Given the description of an element on the screen output the (x, y) to click on. 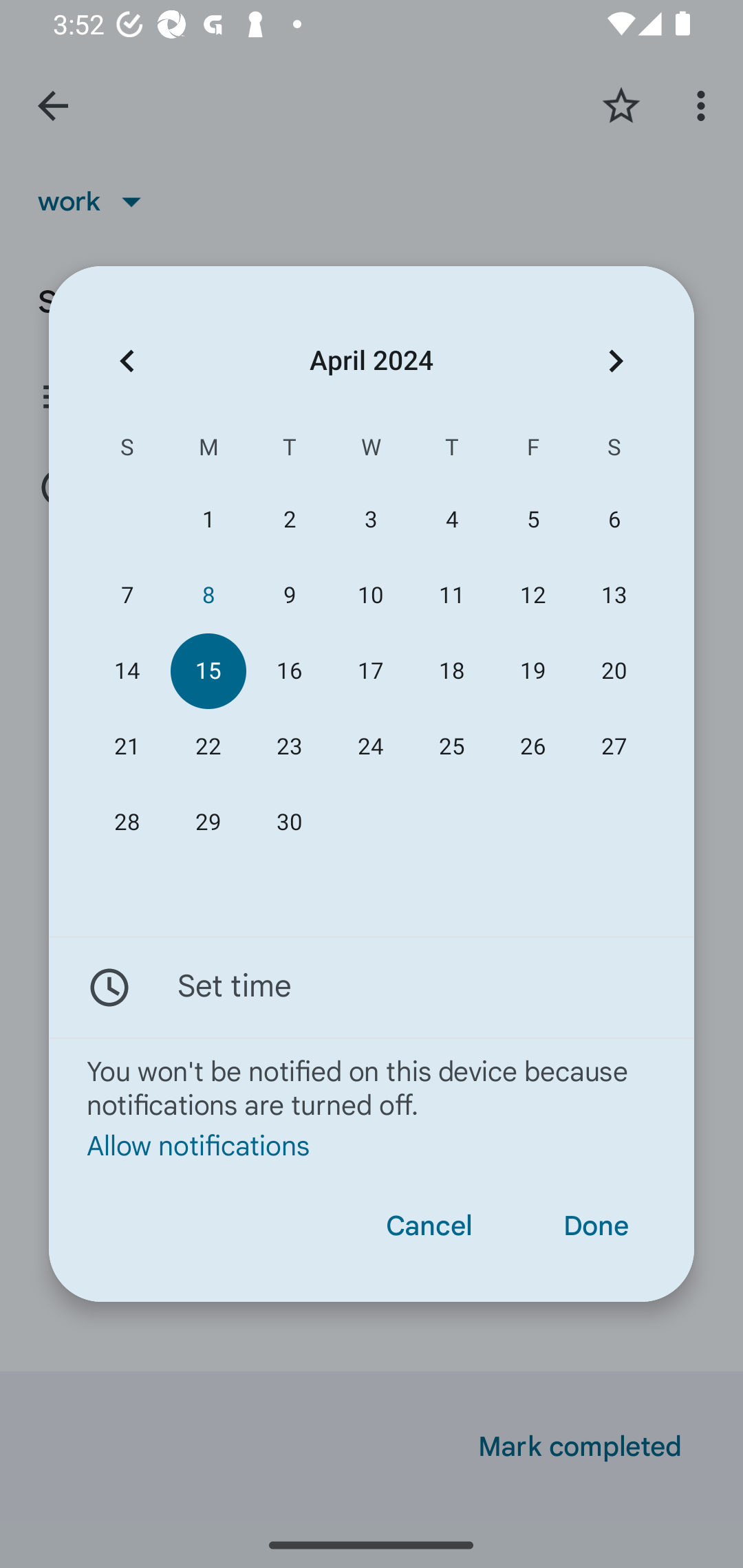
Previous month (126, 360)
Next month (615, 360)
1 01 April 2024 (207, 519)
2 02 April 2024 (288, 519)
3 03 April 2024 (370, 519)
4 04 April 2024 (451, 519)
5 05 April 2024 (532, 519)
6 06 April 2024 (613, 519)
7 07 April 2024 (126, 595)
8 08 April 2024 (207, 595)
9 09 April 2024 (288, 595)
10 10 April 2024 (370, 595)
11 11 April 2024 (451, 595)
12 12 April 2024 (532, 595)
13 13 April 2024 (613, 595)
14 14 April 2024 (126, 670)
15 15 April 2024 (207, 670)
16 16 April 2024 (288, 670)
17 17 April 2024 (370, 670)
18 18 April 2024 (451, 670)
19 19 April 2024 (532, 670)
20 20 April 2024 (613, 670)
21 21 April 2024 (126, 746)
22 22 April 2024 (207, 746)
23 23 April 2024 (288, 746)
24 24 April 2024 (370, 746)
25 25 April 2024 (451, 746)
26 26 April 2024 (532, 746)
27 27 April 2024 (613, 746)
28 28 April 2024 (126, 822)
29 29 April 2024 (207, 822)
30 30 April 2024 (288, 822)
Set time (371, 986)
Allow notifications (371, 1145)
Cancel (429, 1225)
Done (595, 1225)
